Given the description of an element on the screen output the (x, y) to click on. 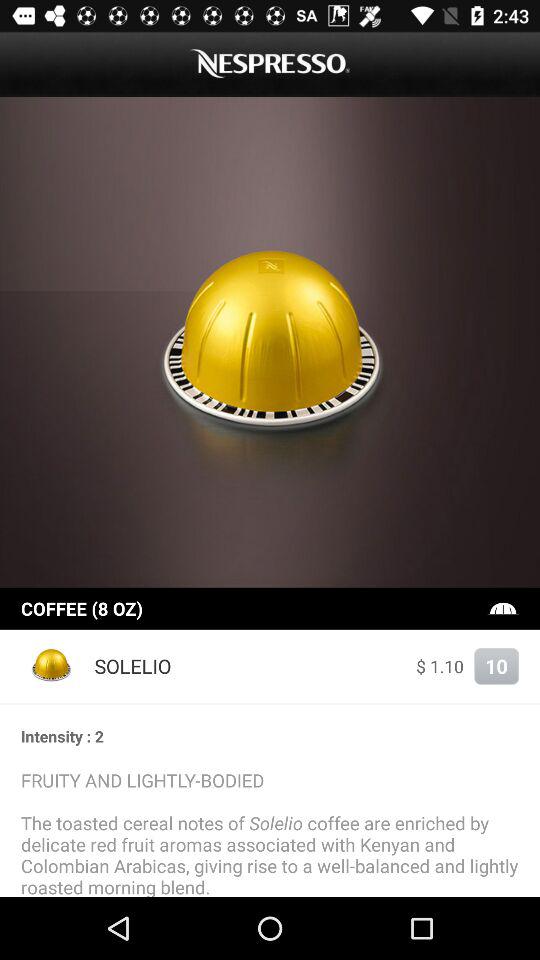
turn on the icon below coffee (8 oz) icon (439, 666)
